Given the description of an element on the screen output the (x, y) to click on. 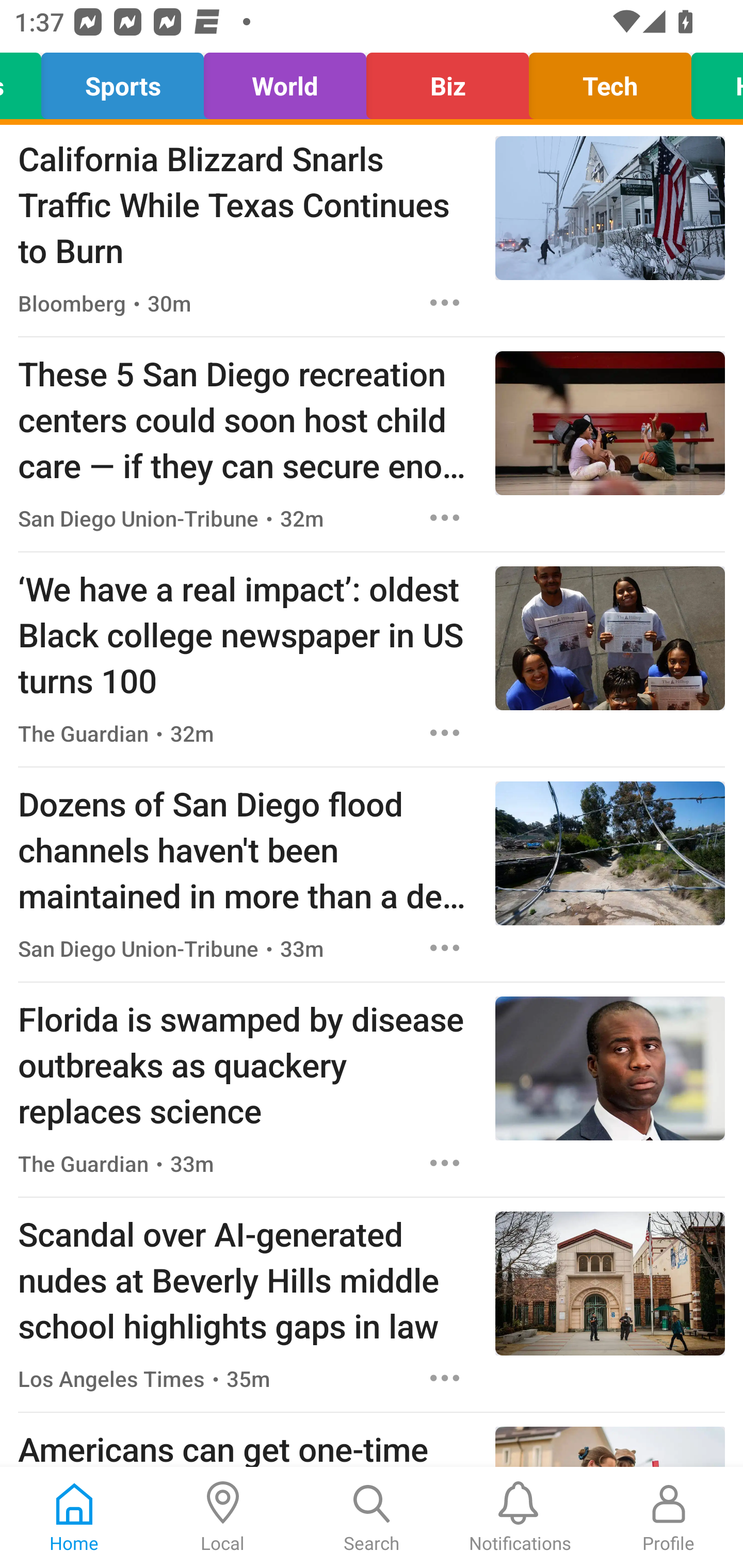
Sports (122, 81)
World (285, 81)
Biz (447, 81)
Tech (609, 81)
Options (444, 302)
Options (444, 517)
Options (444, 732)
Options (444, 947)
Options (444, 1163)
Options (444, 1378)
Local (222, 1517)
Search (371, 1517)
Notifications (519, 1517)
Profile (668, 1517)
